Given the description of an element on the screen output the (x, y) to click on. 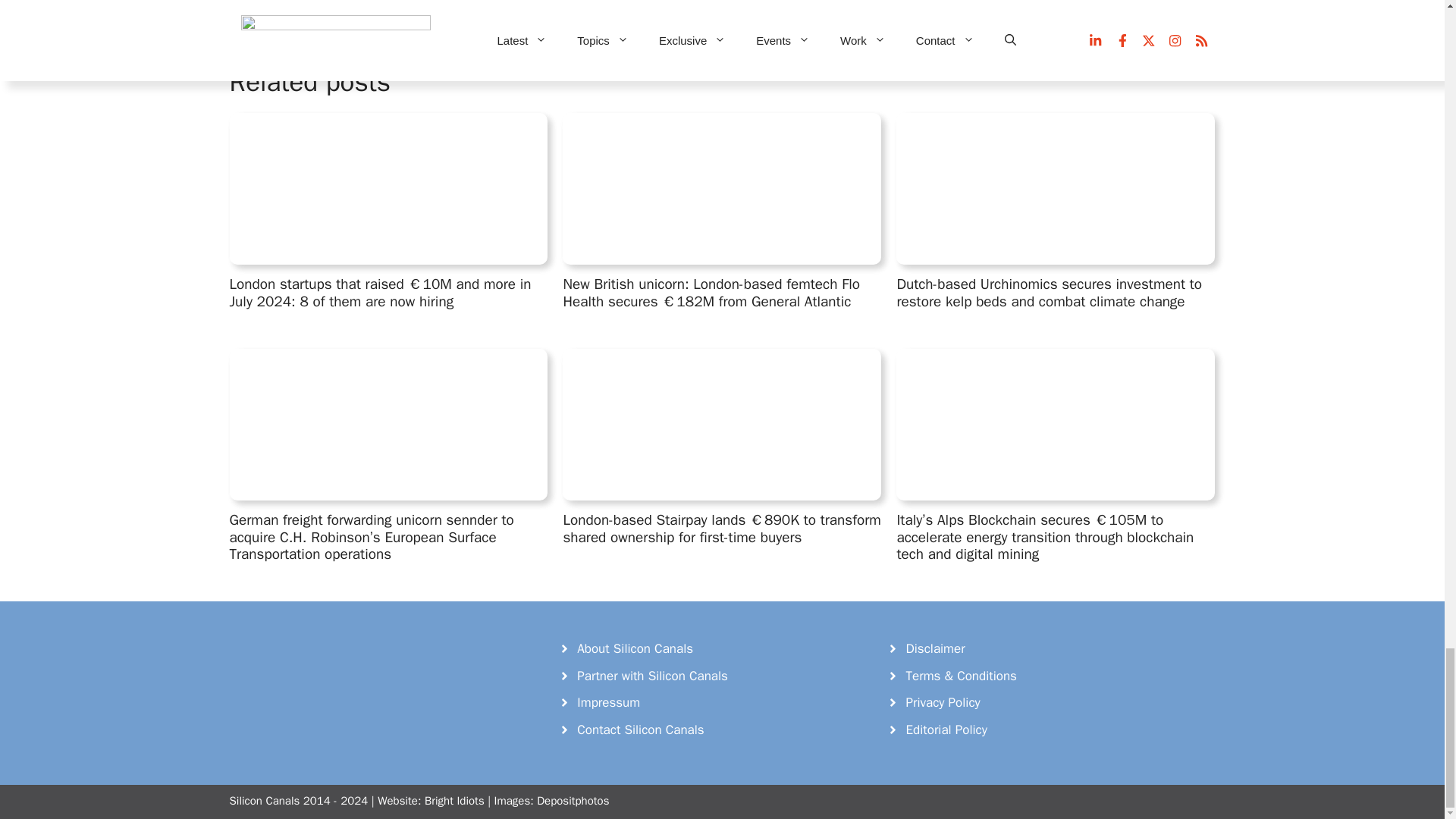
Silicon Canals logo white SC (342, 669)
